Given the description of an element on the screen output the (x, y) to click on. 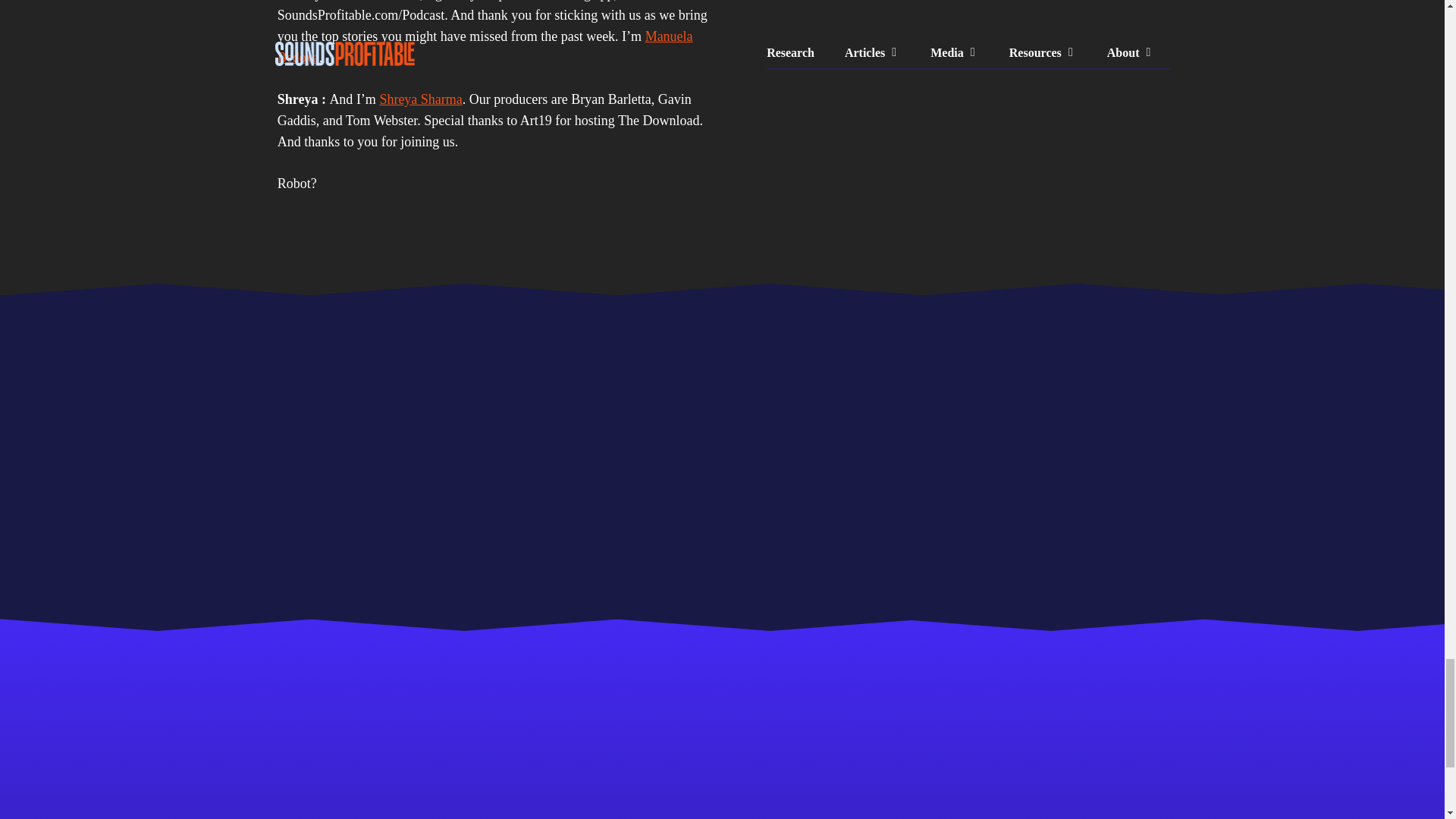
Sign up (1102, 394)
Manuela Bedoya (485, 46)
Shreya Sharma (419, 99)
